Given the description of an element on the screen output the (x, y) to click on. 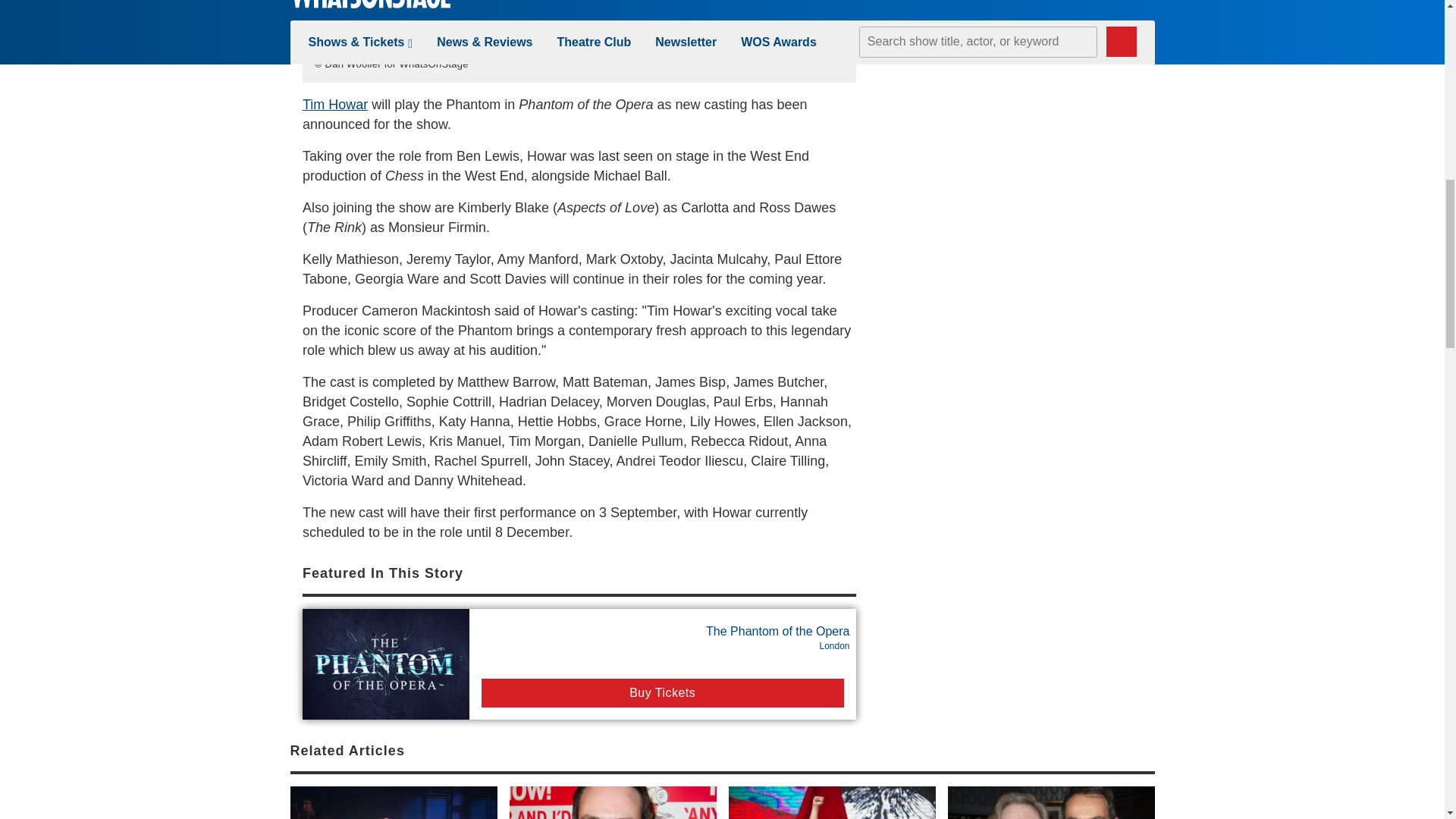
Tim Howar (579, 18)
